Given the description of an element on the screen output the (x, y) to click on. 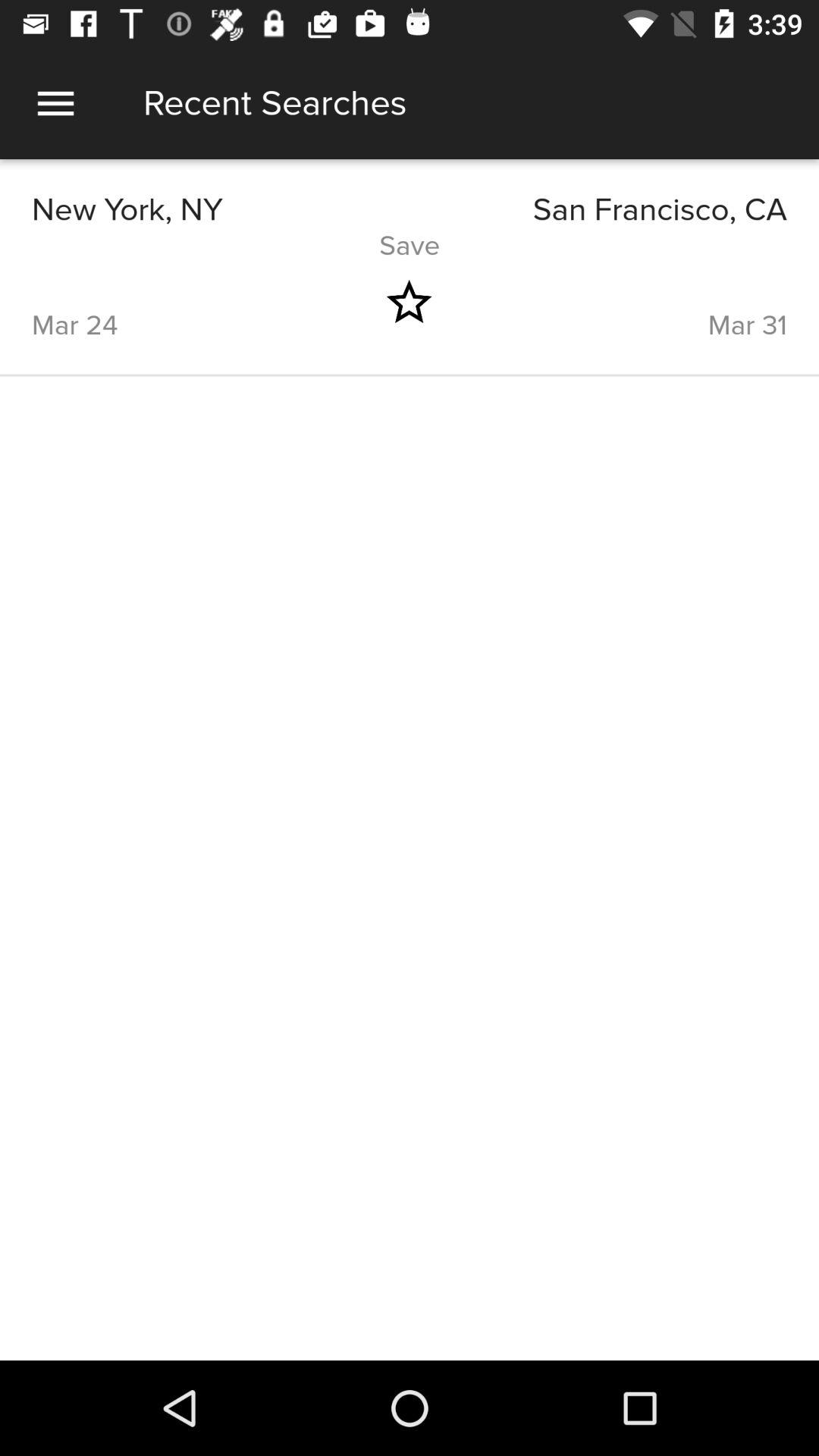
tap the item to the left of the san francisco, ca (220, 210)
